Given the description of an element on the screen output the (x, y) to click on. 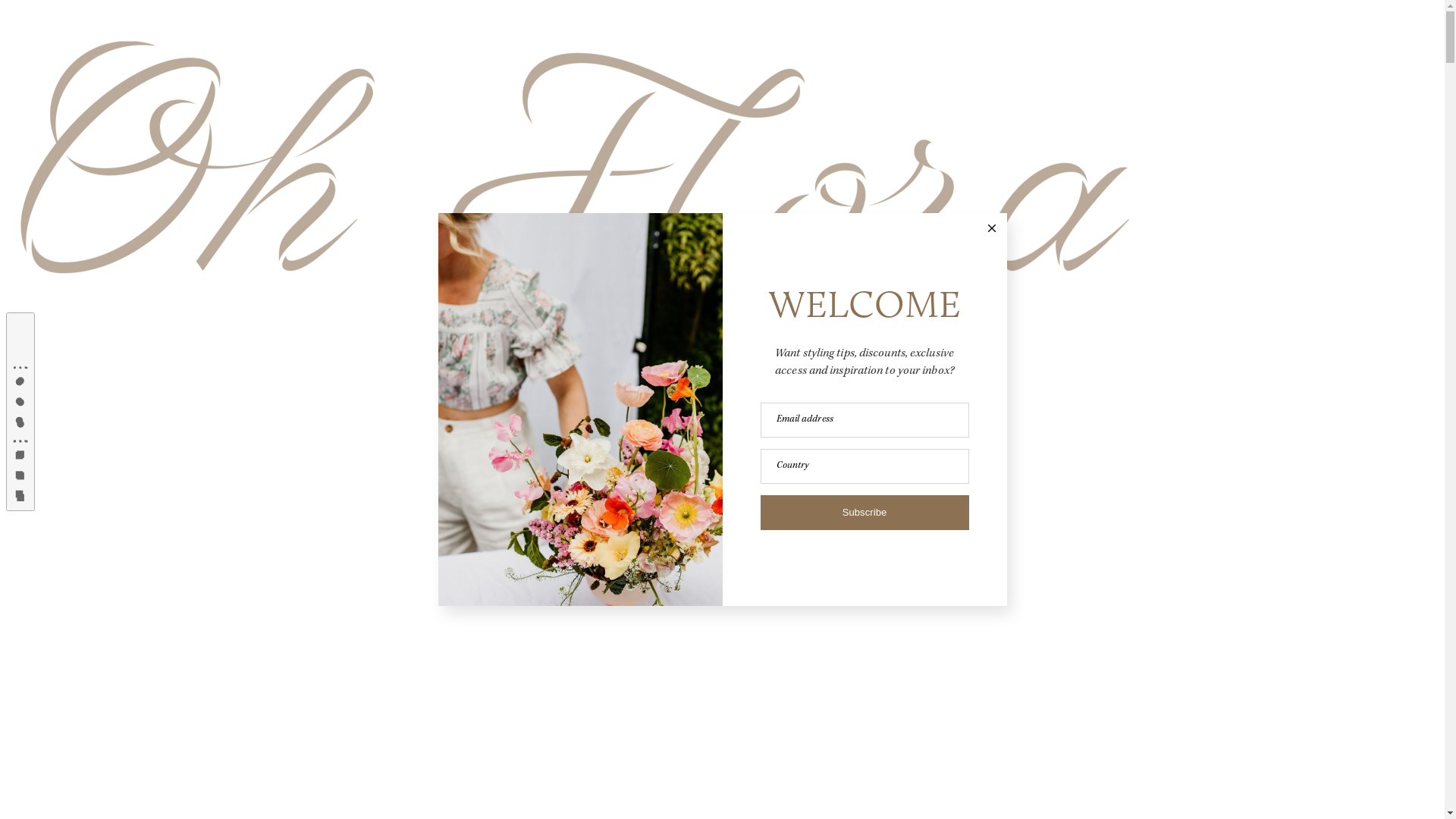
Subscribe Element type: text (863, 512)
